Given the description of an element on the screen output the (x, y) to click on. 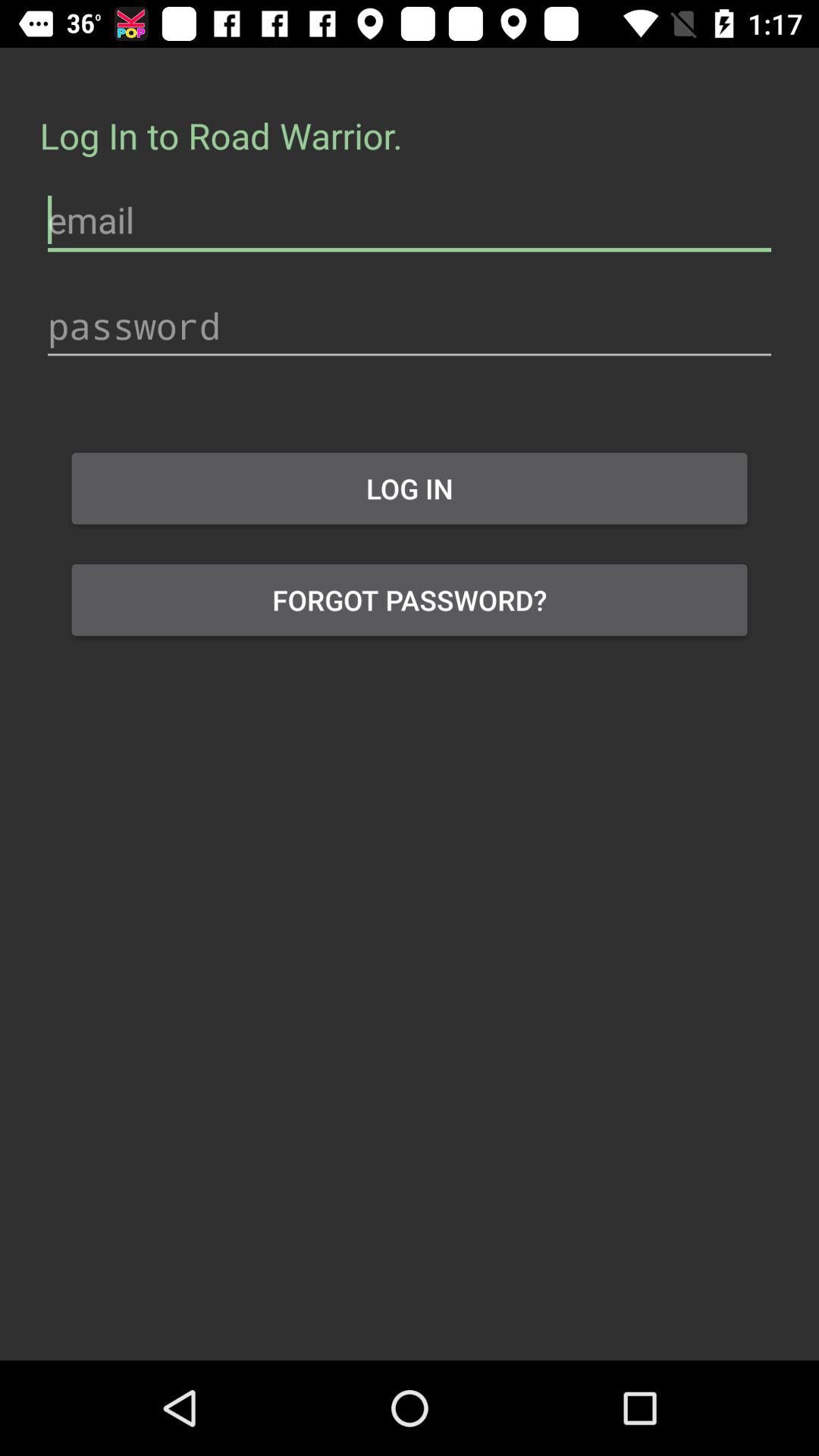
turn off the forgot password? button (409, 599)
